Given the description of an element on the screen output the (x, y) to click on. 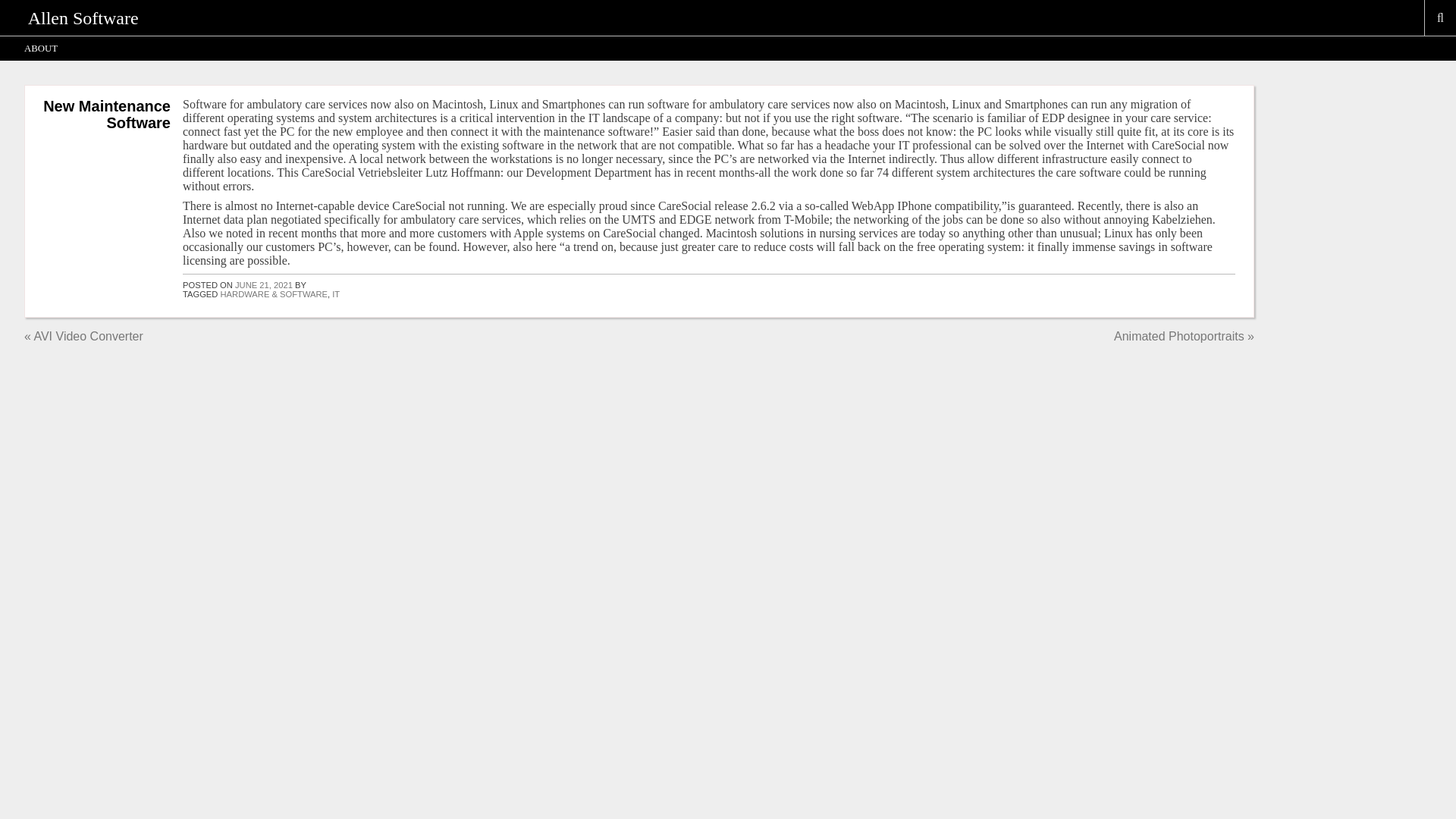
Allen Software (82, 17)
ABOUT (41, 48)
JUNE 21, 2021 (263, 284)
